Given the description of an element on the screen output the (x, y) to click on. 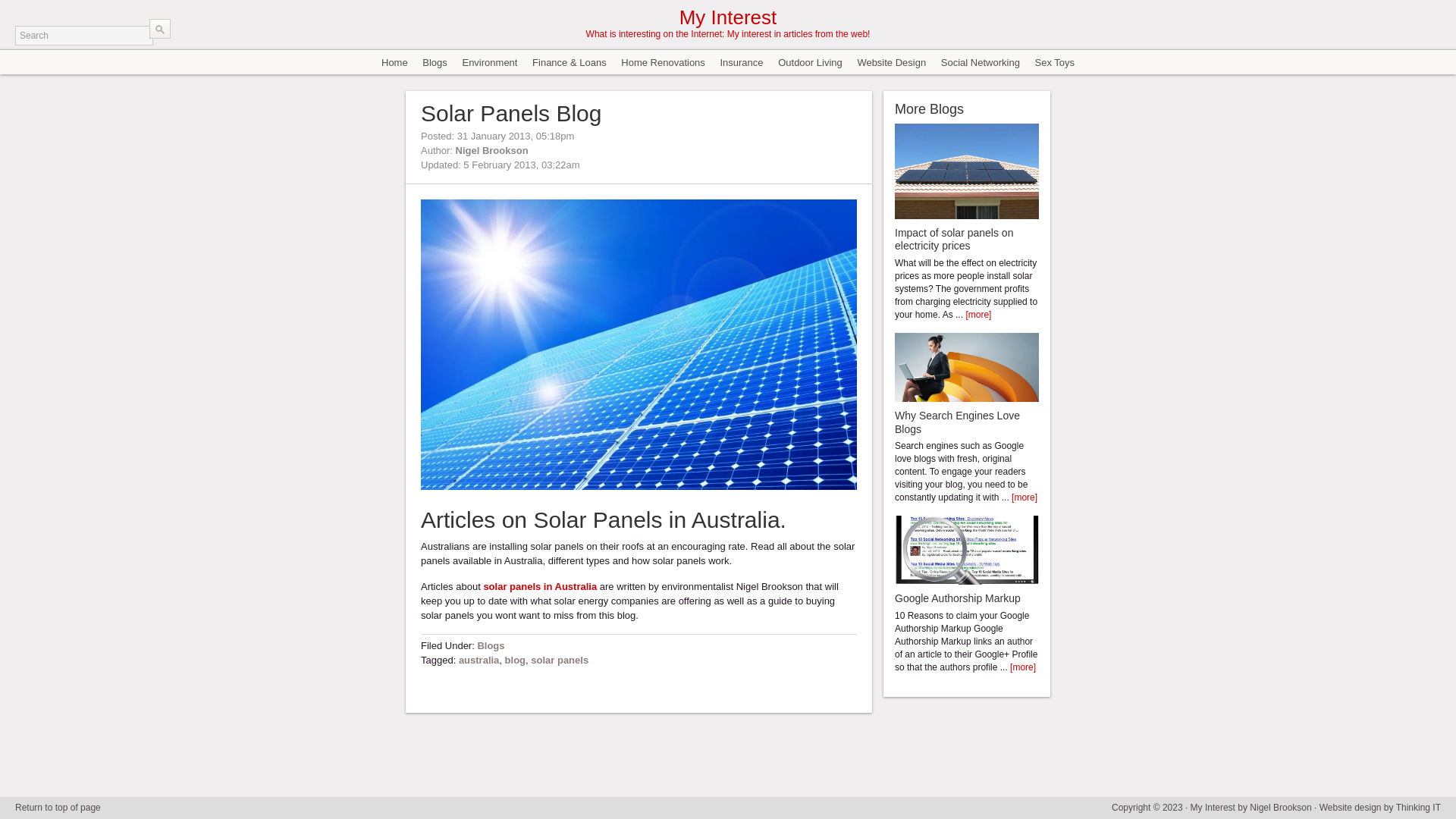
Website design by Thinking IT Element type: text (1379, 807)
Home Renovations Element type: text (663, 62)
Blogs Element type: text (490, 645)
My Interest Element type: text (728, 17)
Insurance Element type: text (740, 62)
Finance & Loans Element type: text (569, 62)
[more] Element type: text (978, 314)
My Interest Element type: text (1212, 807)
[more] Element type: text (1024, 497)
Outdoor Living Element type: text (809, 62)
solar panels Element type: text (559, 659)
Google Authorship Markup Element type: text (957, 598)
Blogs Element type: text (434, 62)
Return to top of page Element type: text (57, 807)
Impact of solar panels on electricity prices Element type: text (953, 239)
solar panels in Australia Element type: text (539, 586)
Sex Toys Element type: text (1054, 62)
Environment Element type: text (489, 62)
Social Networking Element type: text (980, 62)
Website Design Element type: text (890, 62)
Nigel Brookson Element type: text (1280, 807)
[more] Element type: text (1022, 667)
Why Search Engines Love Blogs Element type: text (956, 422)
blog Element type: text (515, 659)
Home Element type: text (394, 62)
australia Element type: text (478, 659)
Nigel Brookson Element type: text (491, 150)
